Given the description of an element on the screen output the (x, y) to click on. 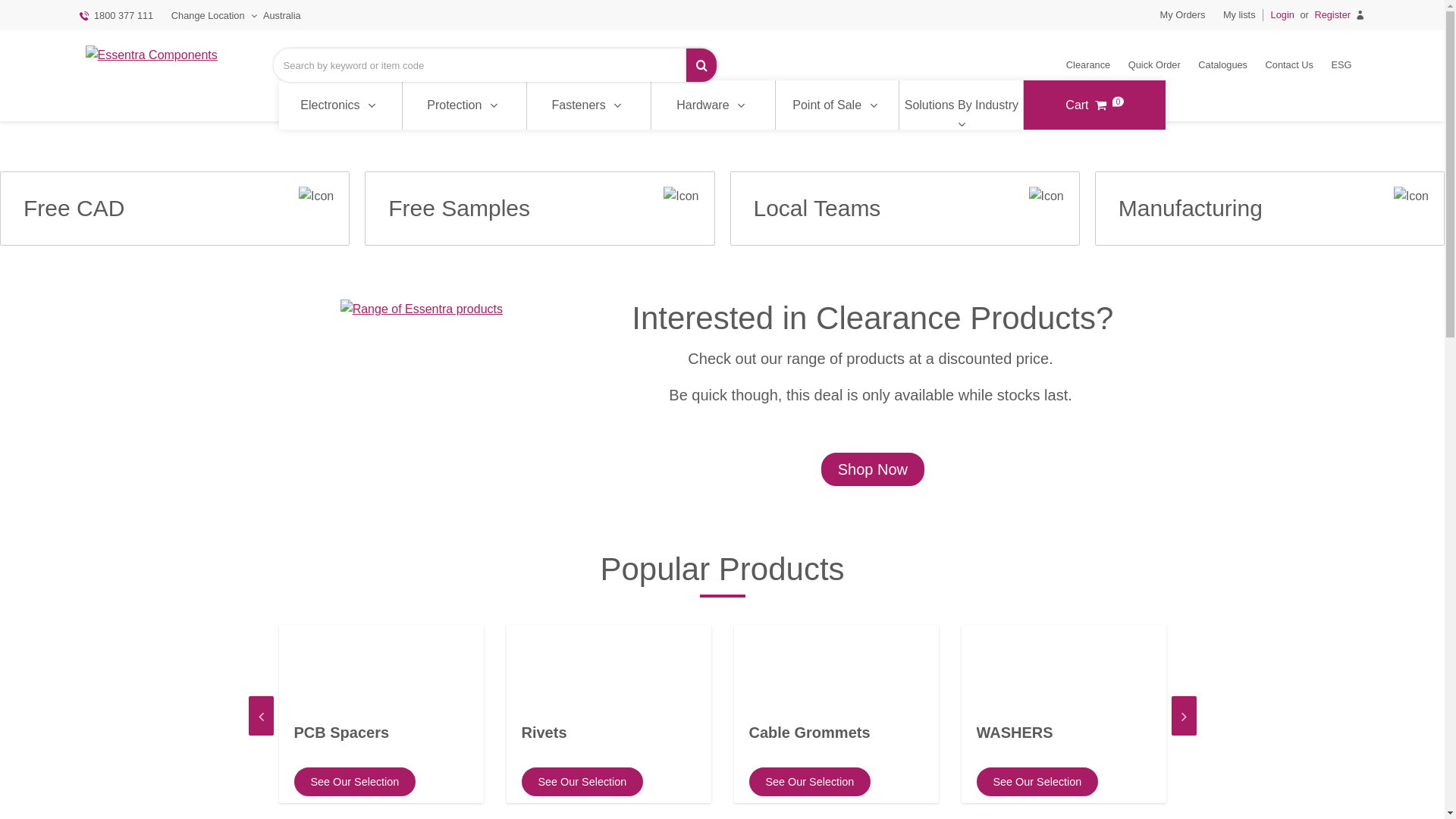
Clearance Element type: text (1087, 65)
See Our Selection Element type: text (582, 781)
Shop Now Element type: text (872, 469)
See Our Selection Element type: text (355, 781)
Login Element type: text (1278, 15)
Catalogues Element type: text (1222, 65)
Cart 0 Element type: text (1094, 104)
Quick Order Element type: text (1154, 65)
Cable Grommets Element type: text (836, 736)
Electronics Element type: text (340, 104)
Contact Us Element type: text (1289, 65)
1800 377 111 Element type: text (114, 15)
Previous Element type: text (260, 715)
Fasteners Element type: text (588, 104)
Next Element type: text (1182, 715)
See Our Selection Element type: text (810, 781)
Solutions By Industry Element type: text (960, 104)
Protection Element type: text (464, 104)
My lists Element type: text (1239, 15)
Register Element type: text (1344, 15)
Free Samples Element type: text (539, 208)
PCB Spacers Element type: text (381, 736)
Free CAD Element type: text (174, 208)
Change Location Australia Element type: text (235, 15)
ESG Element type: text (1340, 65)
Point of Sale Element type: text (837, 104)
WASHERS Element type: text (1063, 736)
My Orders Element type: text (1182, 15)
Rivets Element type: text (608, 736)
Hardware Element type: text (713, 104)
See Our Selection Element type: text (1037, 781)
Manufacturing Element type: text (1269, 208)
Local Teams Element type: text (904, 208)
